Given the description of an element on the screen output the (x, y) to click on. 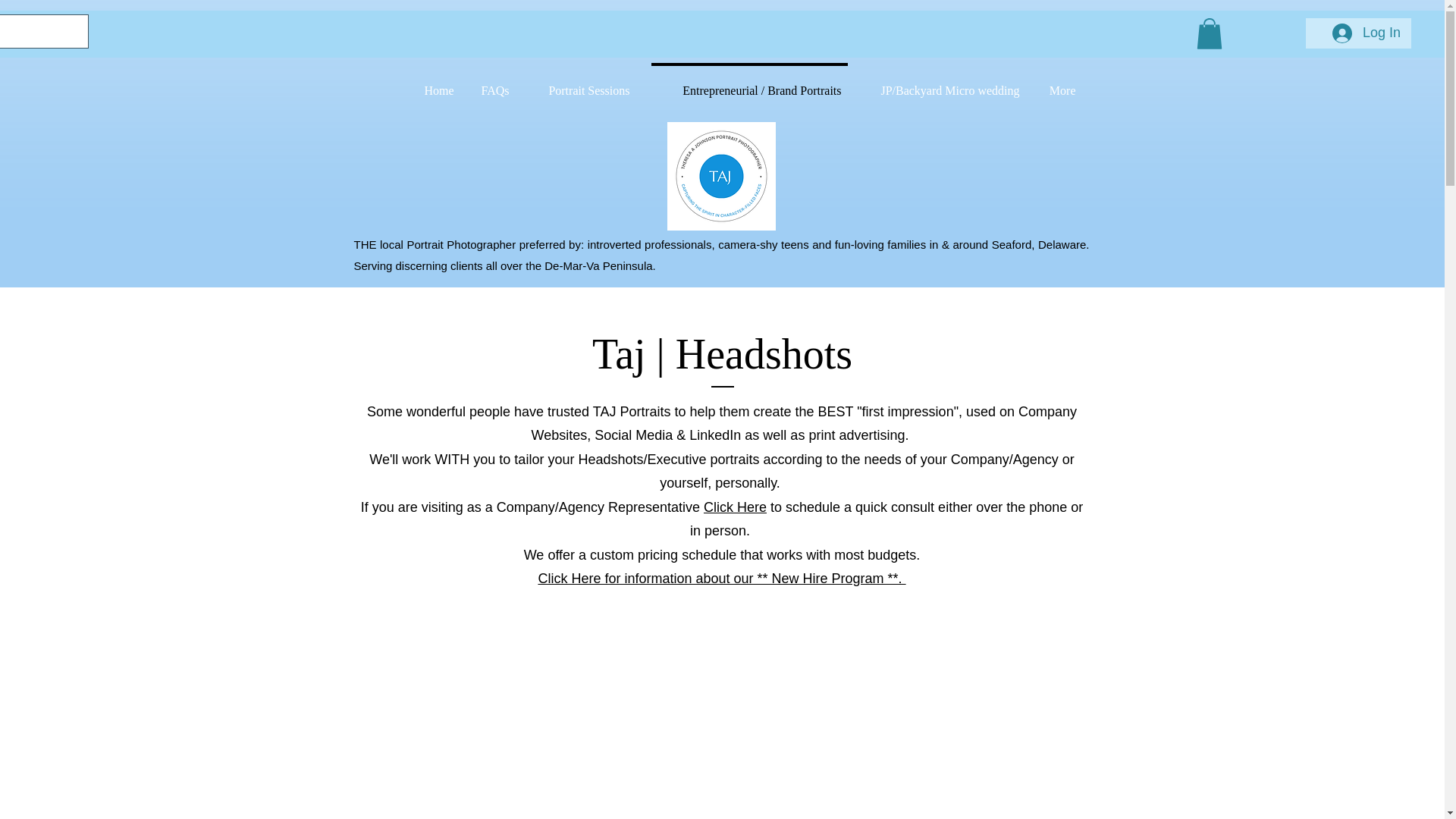
Log In (1366, 32)
Click Here (735, 507)
Home (437, 83)
FAQs (494, 83)
Portrait Sessions (582, 83)
